Given the description of an element on the screen output the (x, y) to click on. 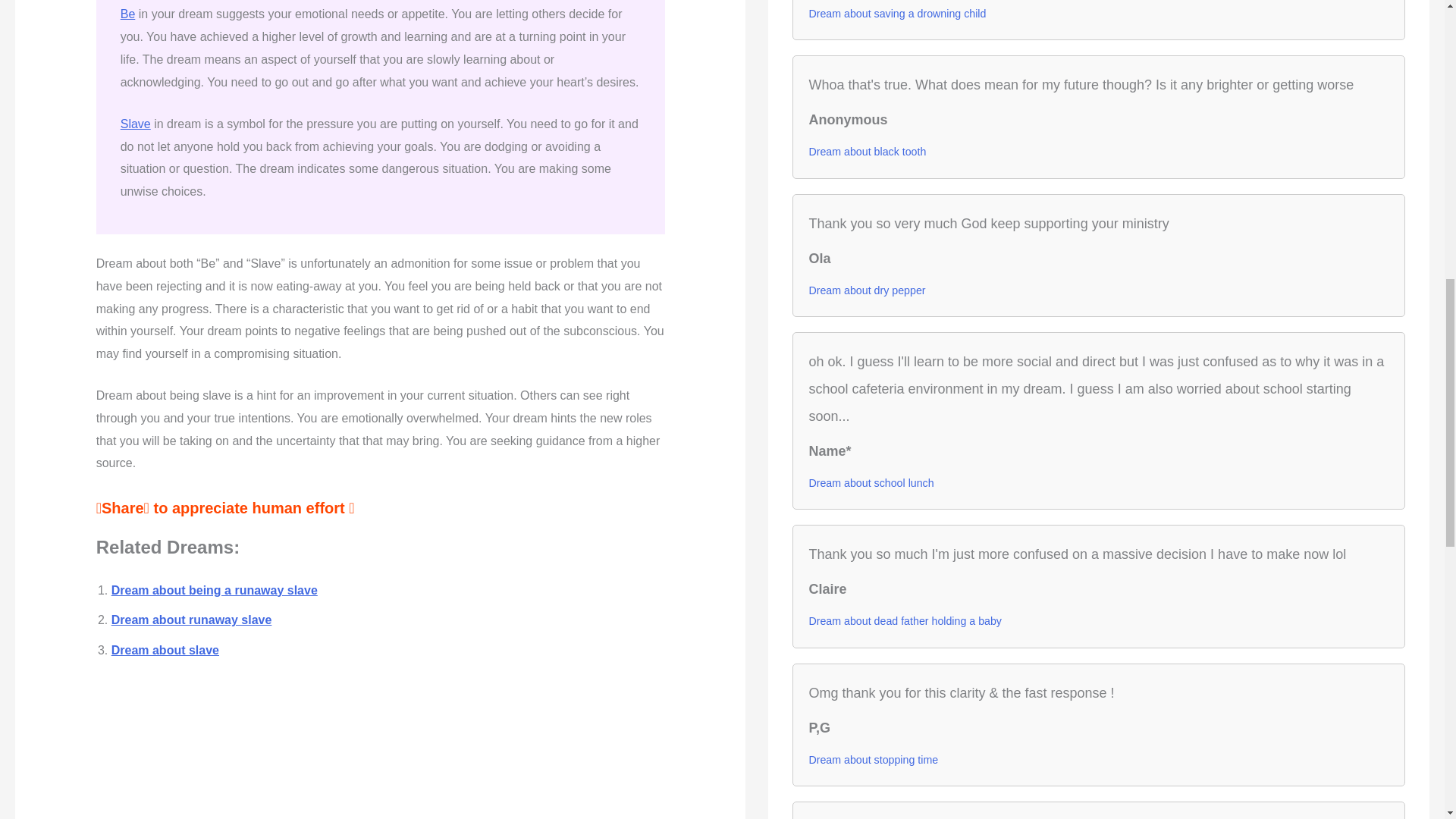
Dream about dead father holding a baby (904, 620)
Dream about slave (165, 649)
Dream about runaway slave (192, 619)
Dream about being a runaway slave (214, 590)
Dream about dry pepper (866, 290)
Dream about saving a drowning child (896, 13)
Dream about school lunch (870, 482)
Dream about black tooth (867, 151)
Dream about stopping time (872, 759)
Dream about runaway slave (192, 619)
Dream about being a runaway slave (214, 590)
Slave (135, 123)
Be (127, 13)
Dream about slave (165, 649)
